Given the description of an element on the screen output the (x, y) to click on. 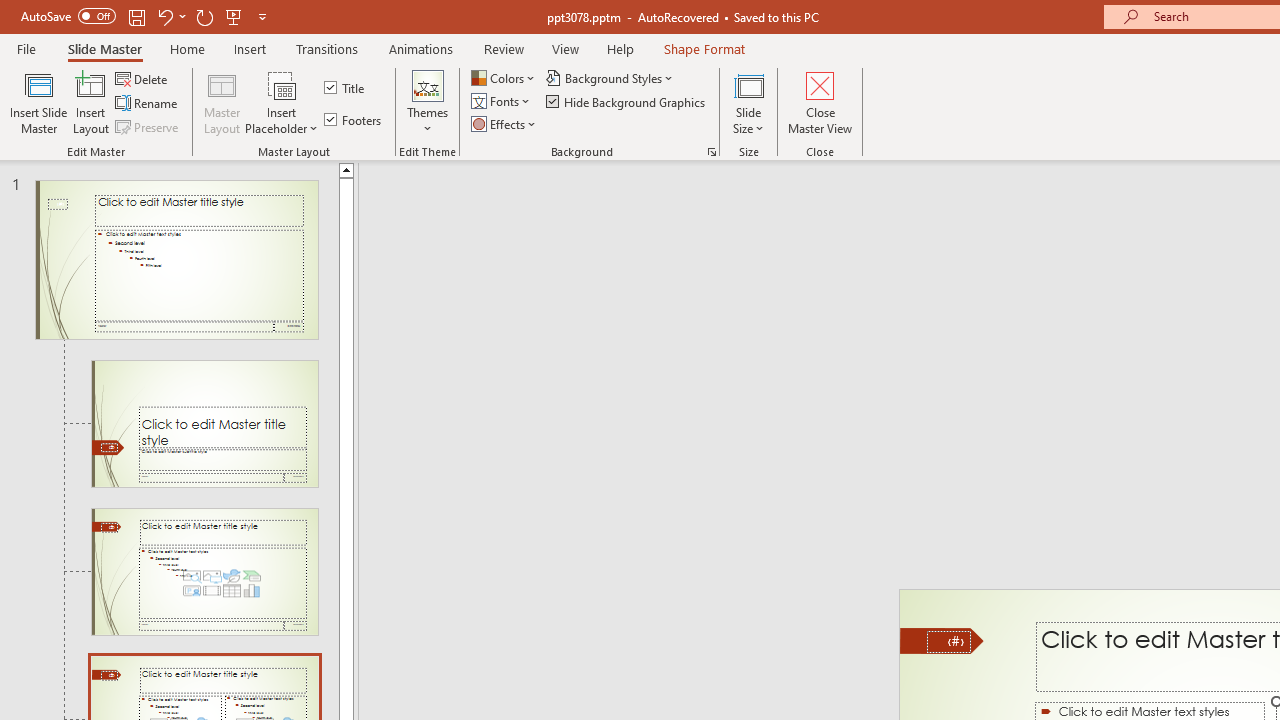
Slide Master (104, 48)
Insert Slide Master (38, 102)
Footers (354, 119)
Slide Title Slide Layout: used by slide(s) 1 (204, 423)
Shape Format (704, 48)
Delete (143, 78)
Preserve (148, 126)
Close Master View (820, 102)
Fonts (502, 101)
